Given the description of an element on the screen output the (x, y) to click on. 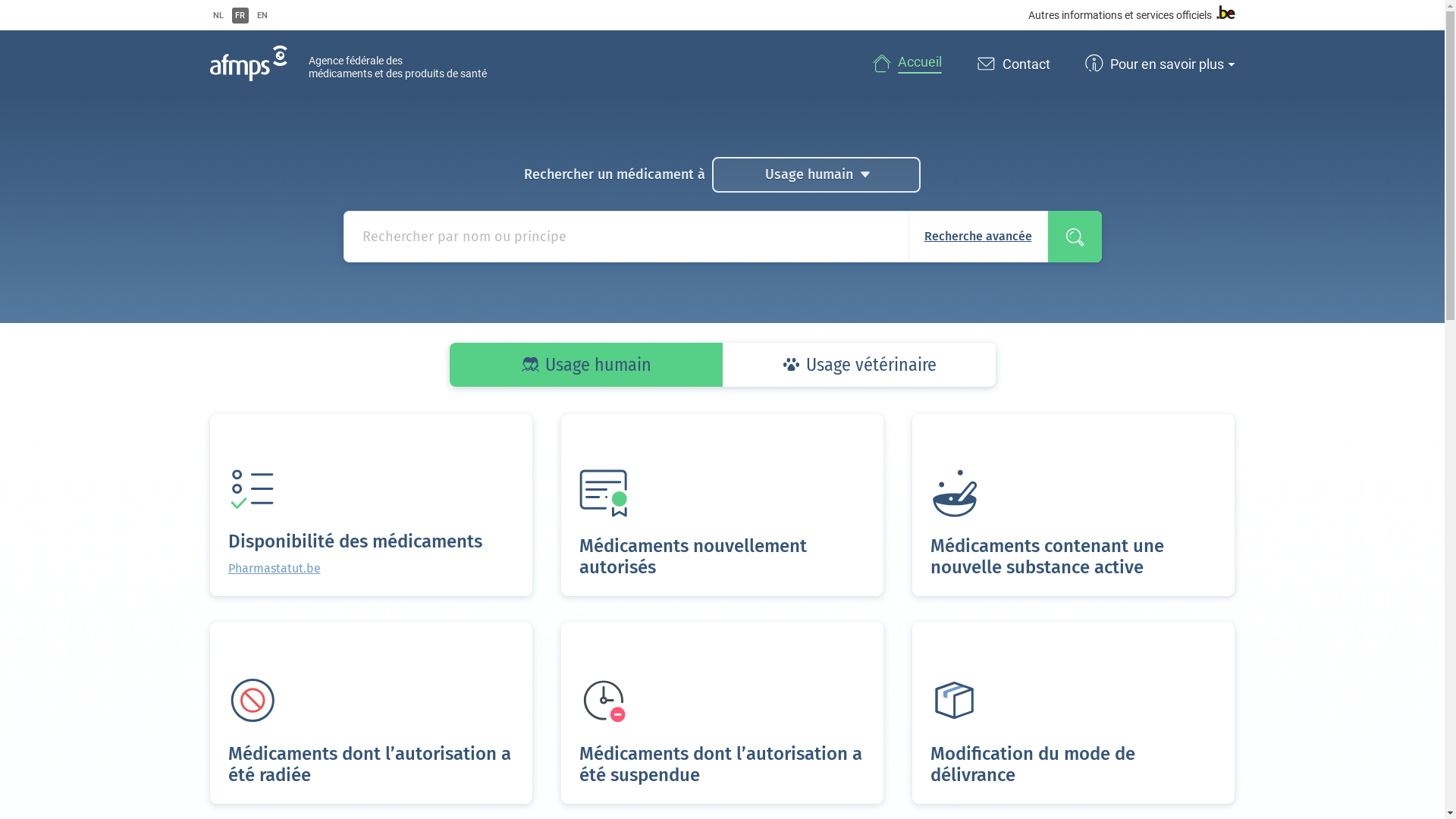
Pour en savoir plus Element type: text (1157, 63)
NL Element type: text (217, 15)
FR Element type: text (240, 15)
Contact Element type: text (1011, 63)
Accueil Element type: text (905, 63)
EN Element type: text (261, 15)
